Given the description of an element on the screen output the (x, y) to click on. 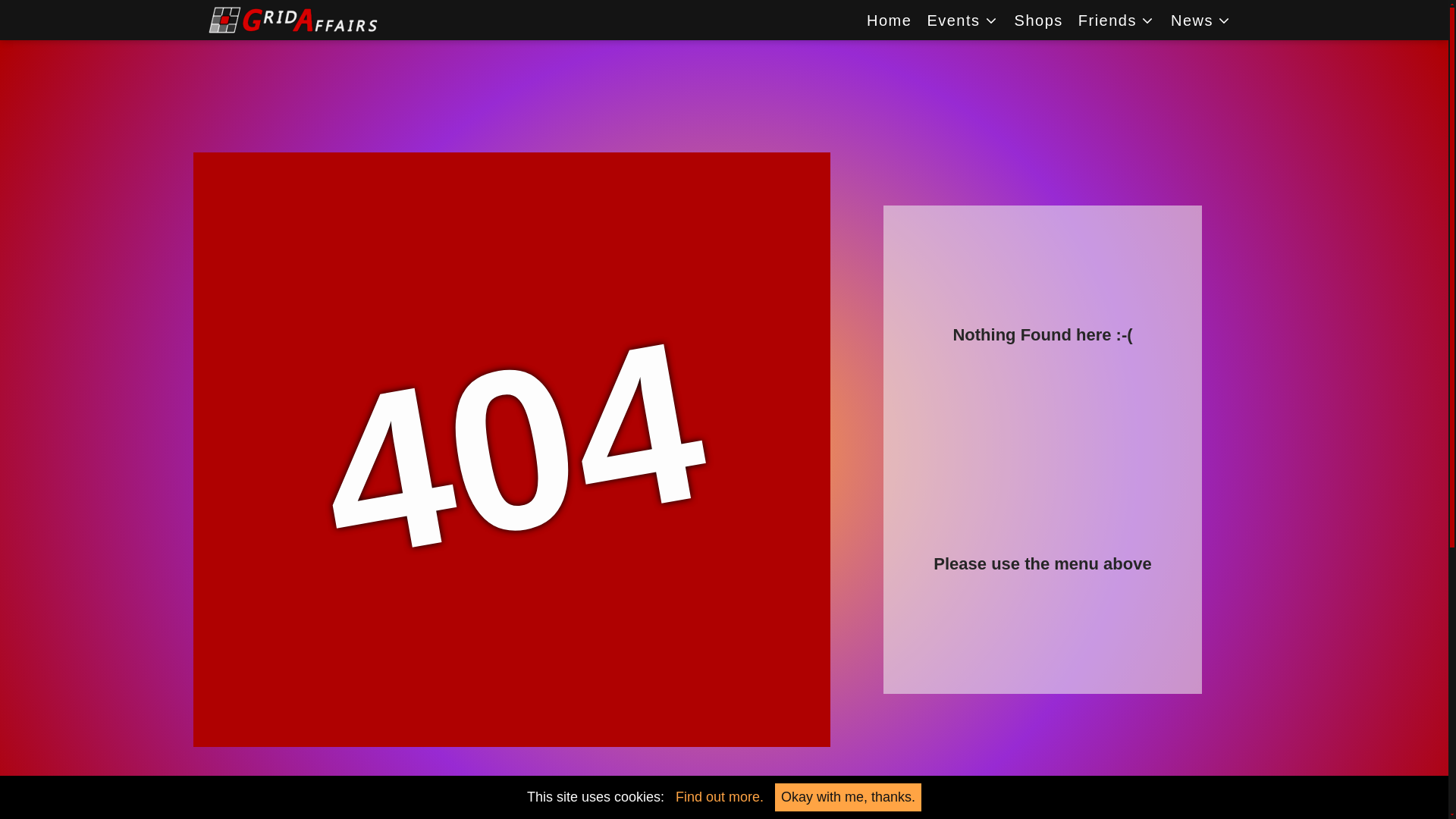
Events (962, 20)
Find out more. (718, 797)
News (1201, 20)
Friends (1116, 20)
Okay with me, thanks. (847, 796)
Shops (1038, 20)
Home (888, 20)
